Given the description of an element on the screen output the (x, y) to click on. 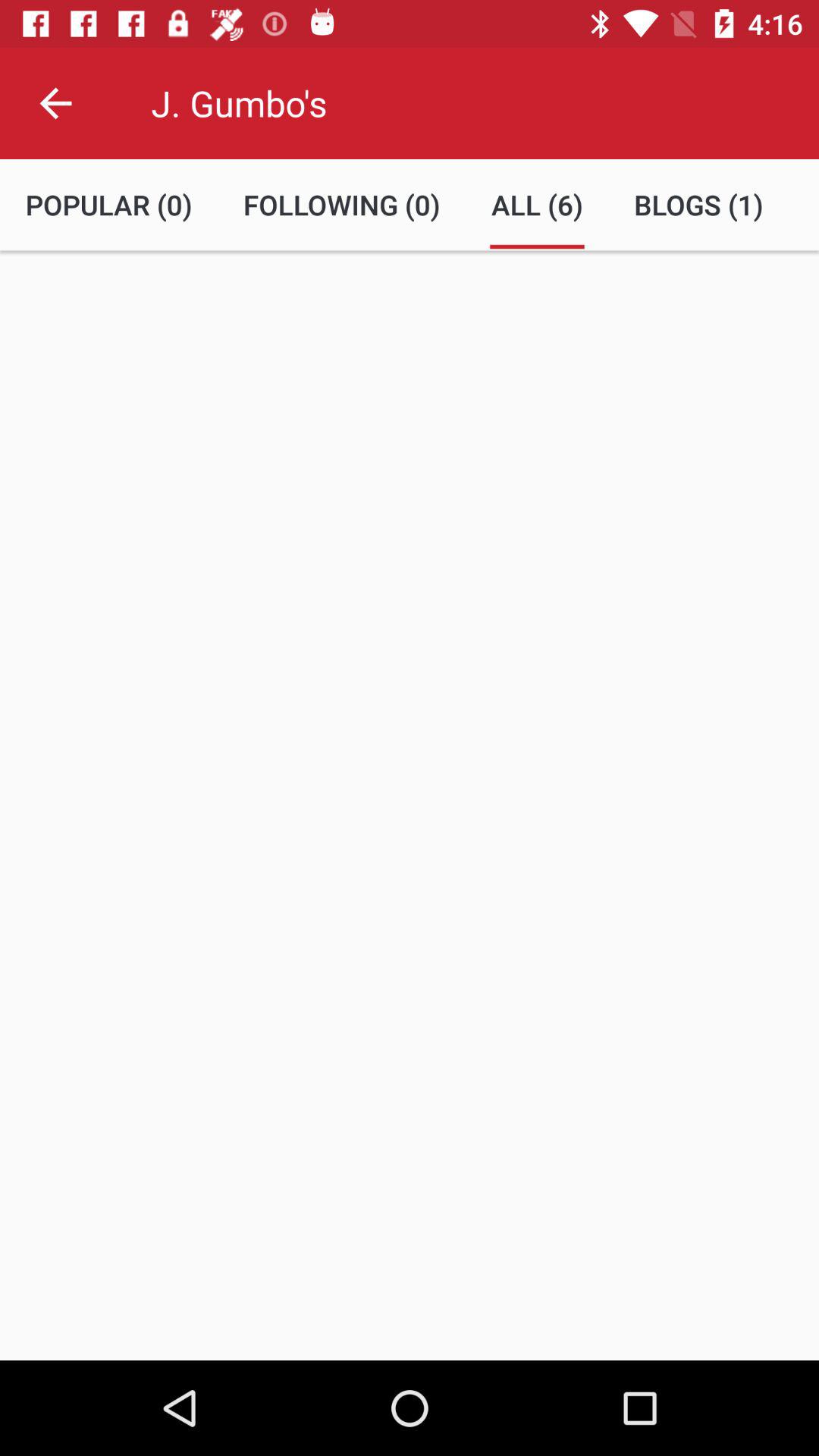
turn off the blogs (1) at the top right corner (698, 204)
